Given the description of an element on the screen output the (x, y) to click on. 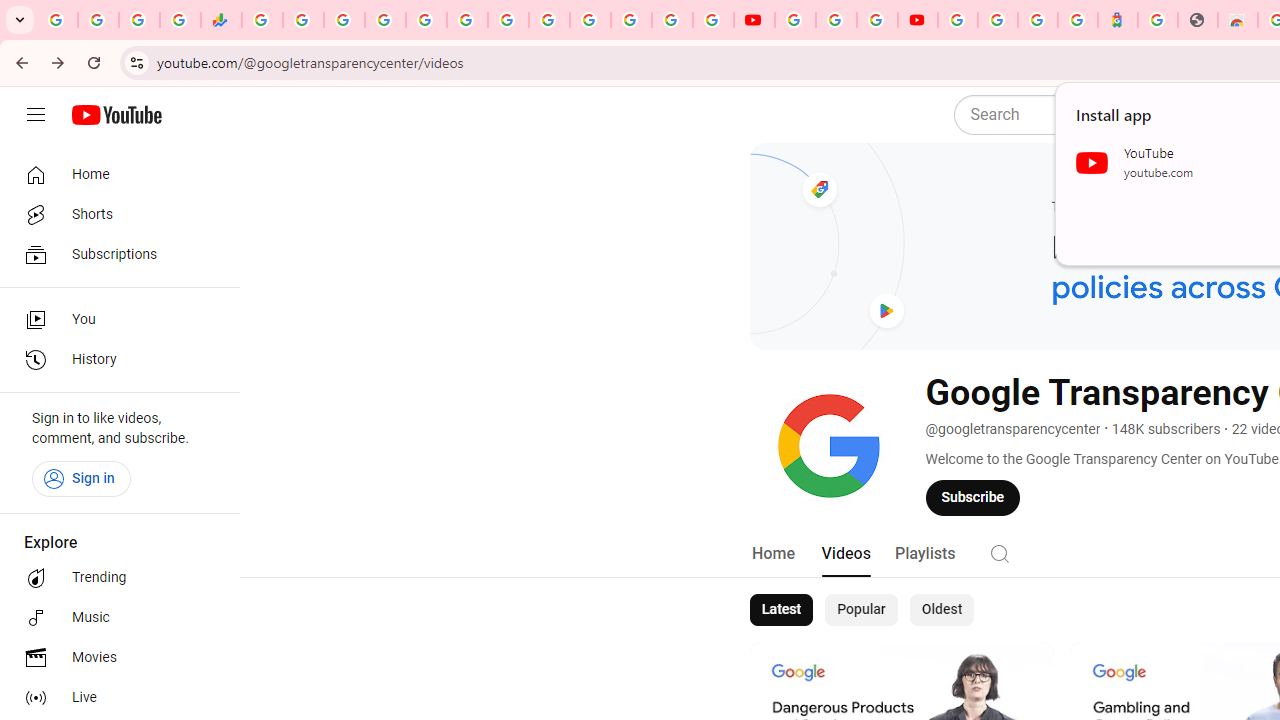
Create your Google Account (877, 20)
Atour Hotel - Google hotels (1117, 20)
Shorts (113, 214)
YouTube Home (116, 115)
Playlists (924, 553)
Guide (35, 115)
Movies (113, 657)
YouTube (795, 20)
